Given the description of an element on the screen output the (x, y) to click on. 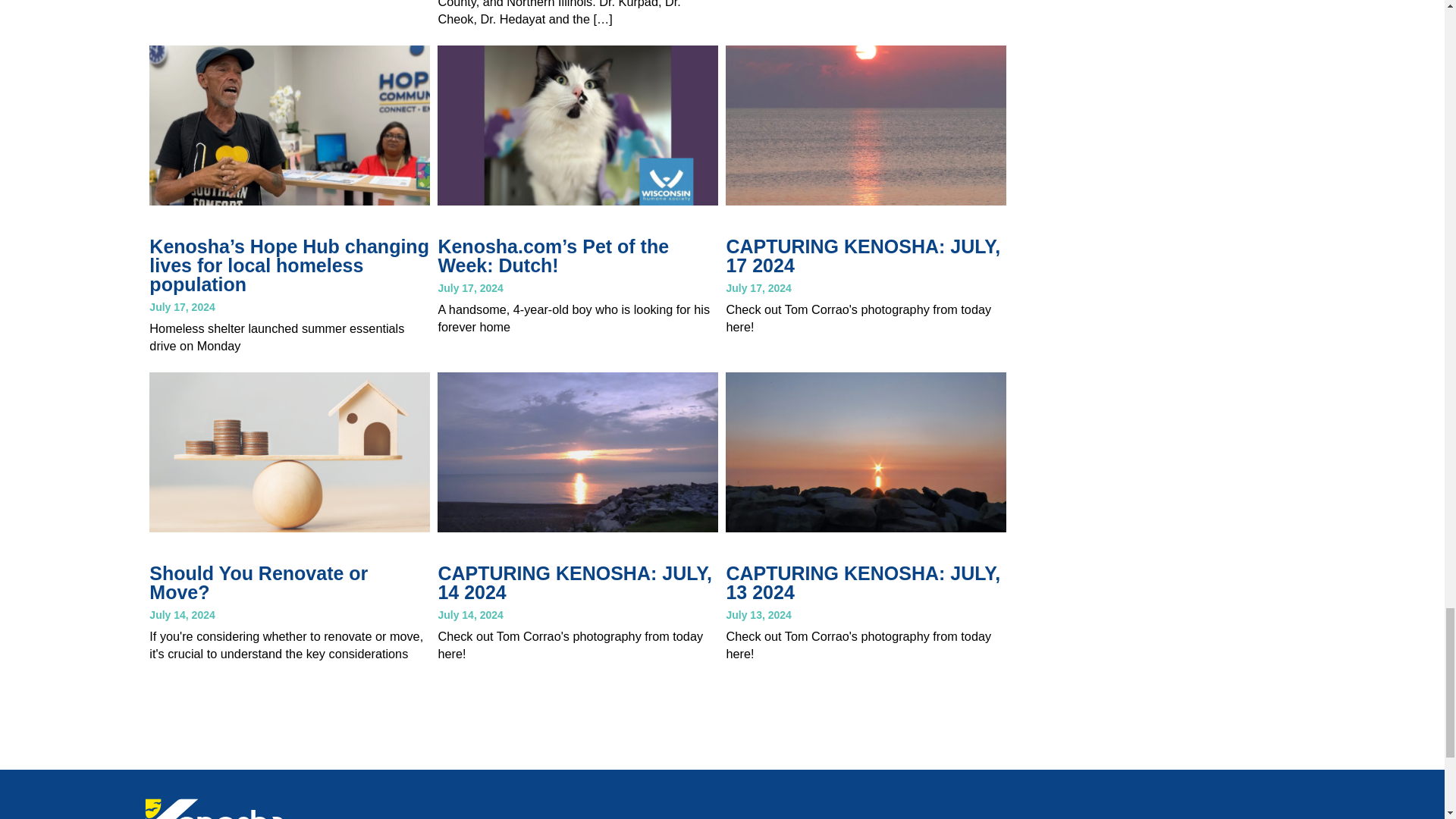
footer-logo (238, 808)
